Given the description of an element on the screen output the (x, y) to click on. 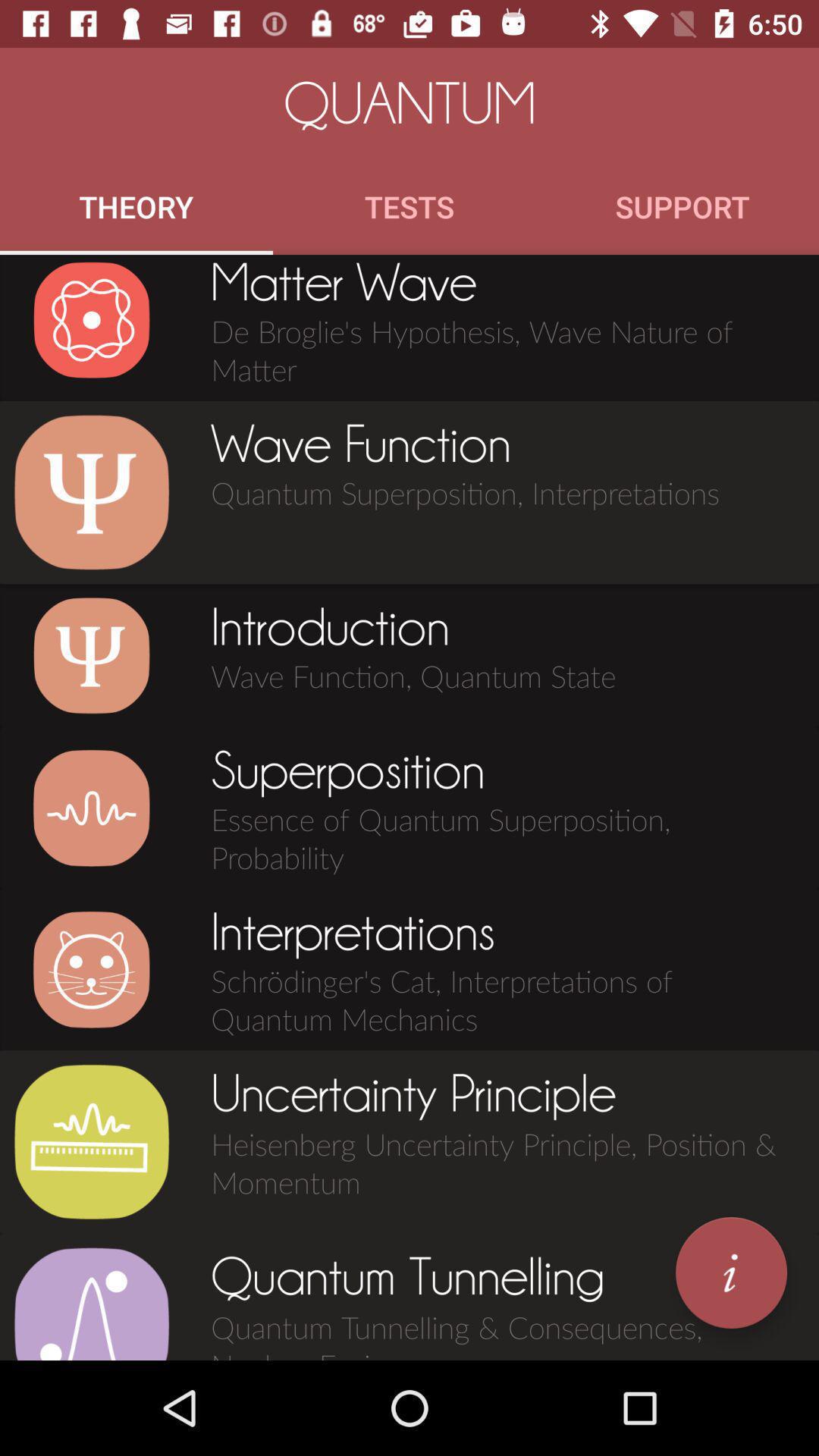
interpretations (91, 969)
